Given the description of an element on the screen output the (x, y) to click on. 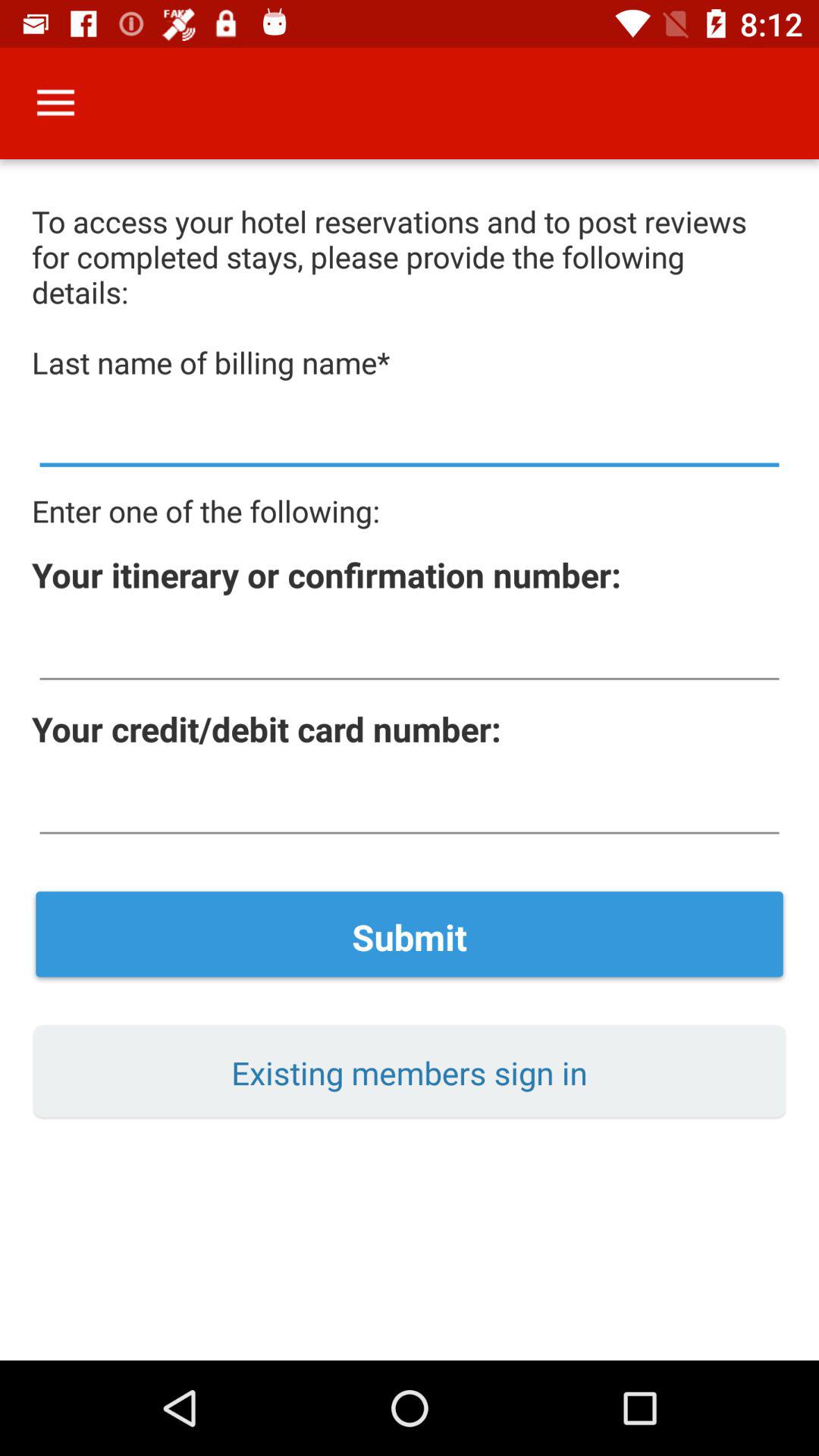
click icon above to access your item (55, 103)
